Given the description of an element on the screen output the (x, y) to click on. 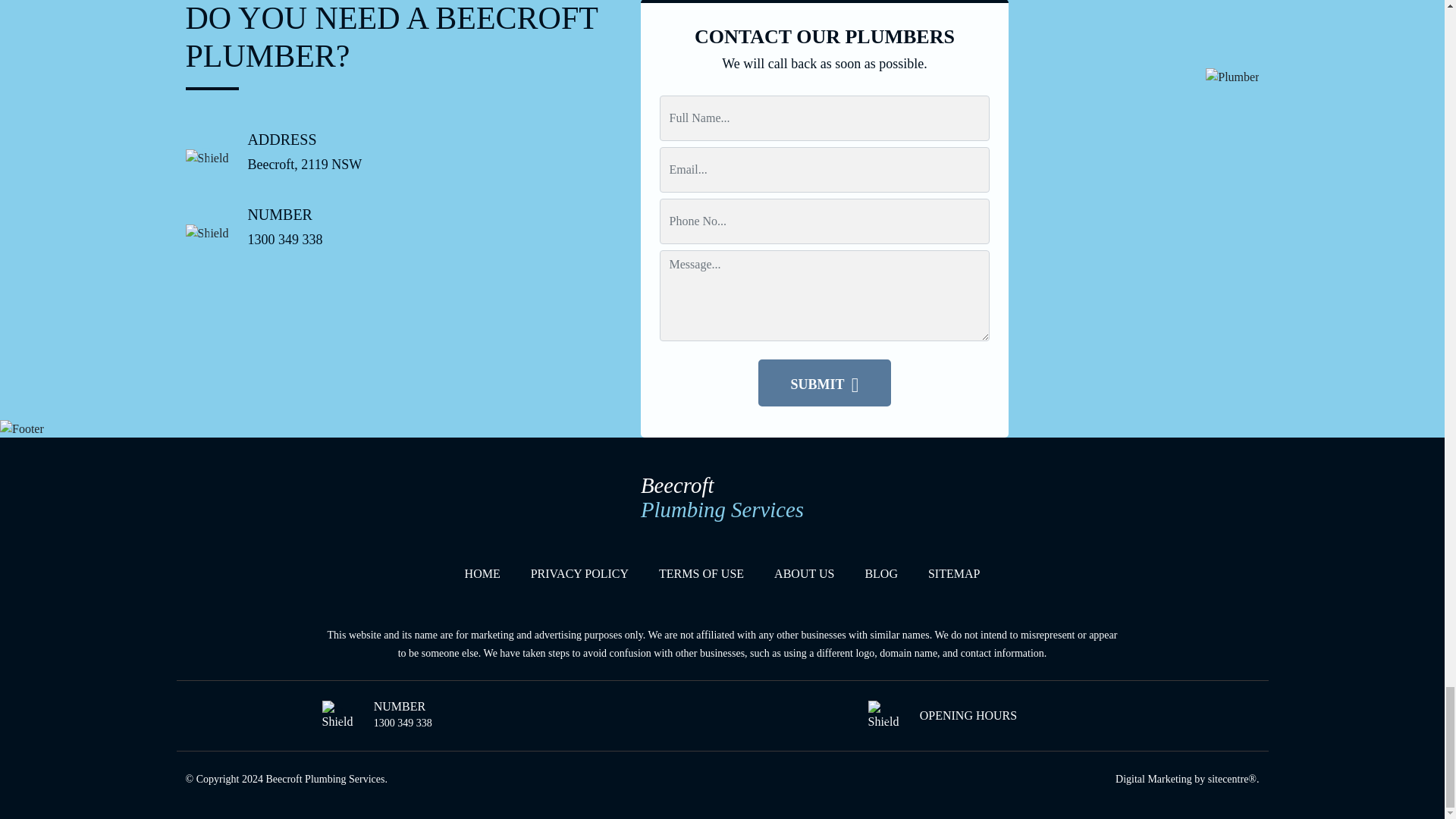
BLOG (881, 573)
ABOUT US (804, 573)
SITEMAP (953, 573)
Home (721, 502)
About Us (804, 573)
Privacy Policy (579, 573)
1300 349 338 (403, 722)
1300 349 338 (284, 239)
Terms of Use (701, 573)
Blog (881, 573)
